Given the description of an element on the screen output the (x, y) to click on. 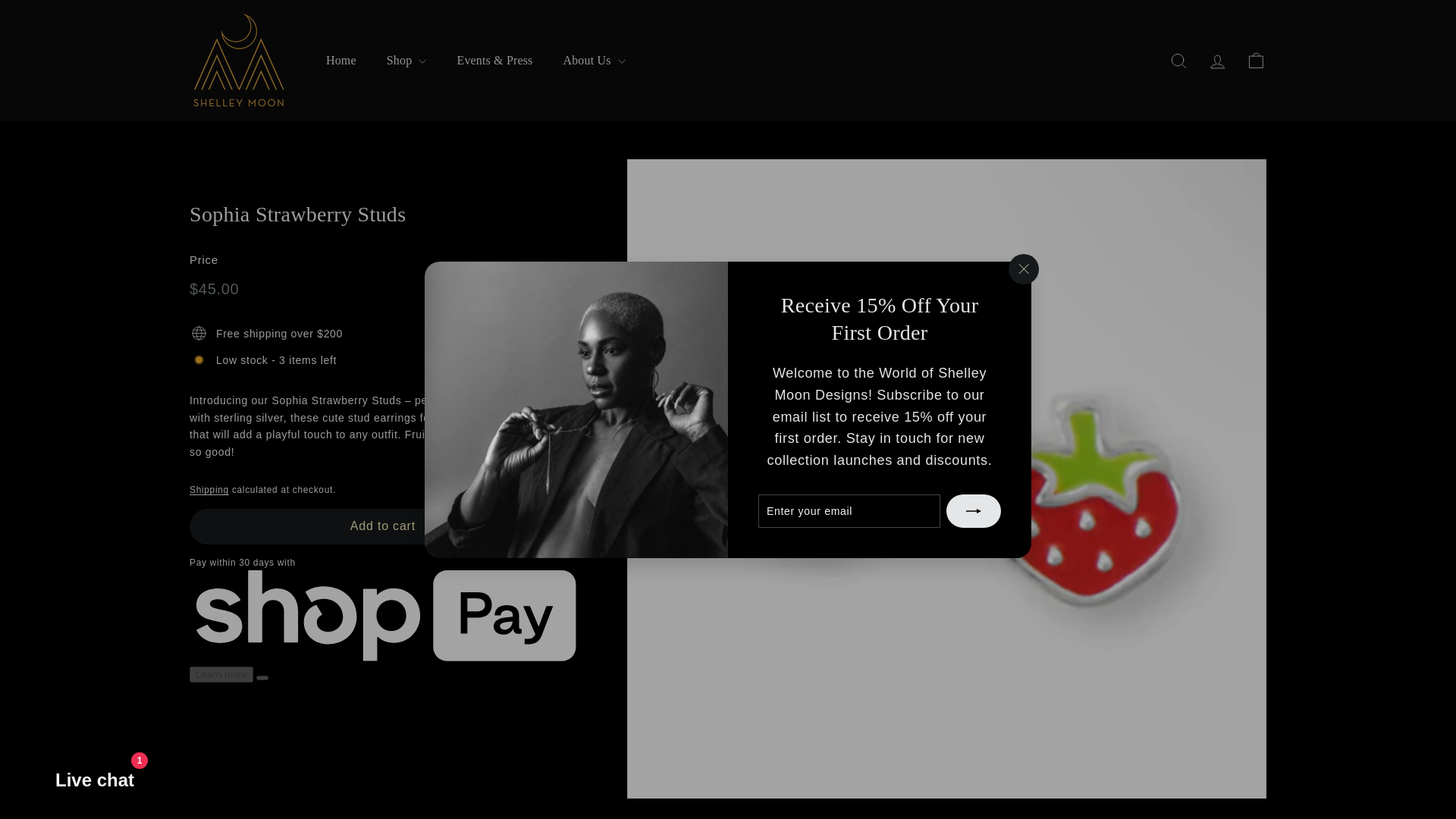
Home (341, 60)
Shopify online store chat (79, 781)
